Given the description of an element on the screen output the (x, y) to click on. 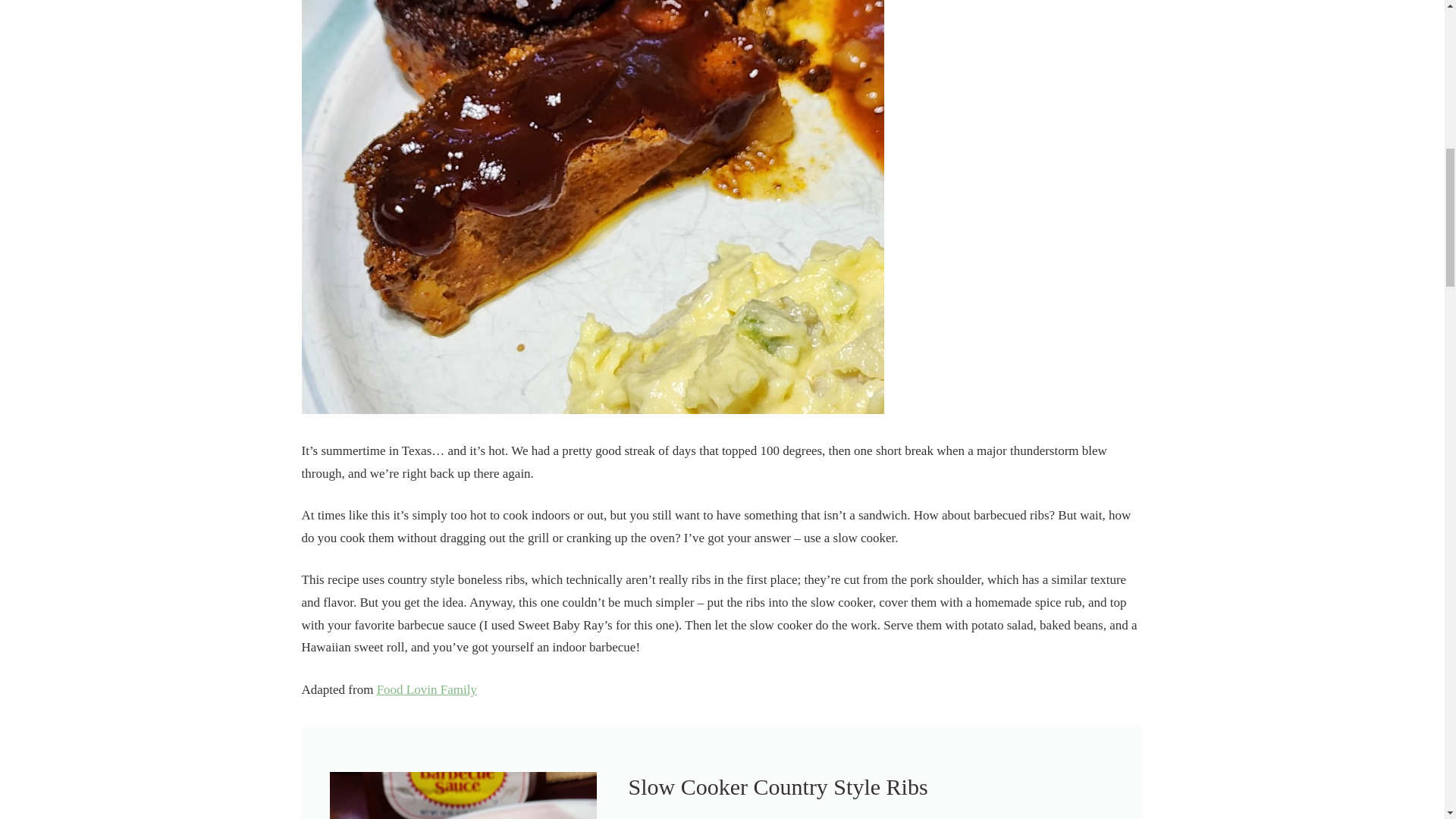
Food Lov (402, 689)
in Family (451, 689)
